Given the description of an element on the screen output the (x, y) to click on. 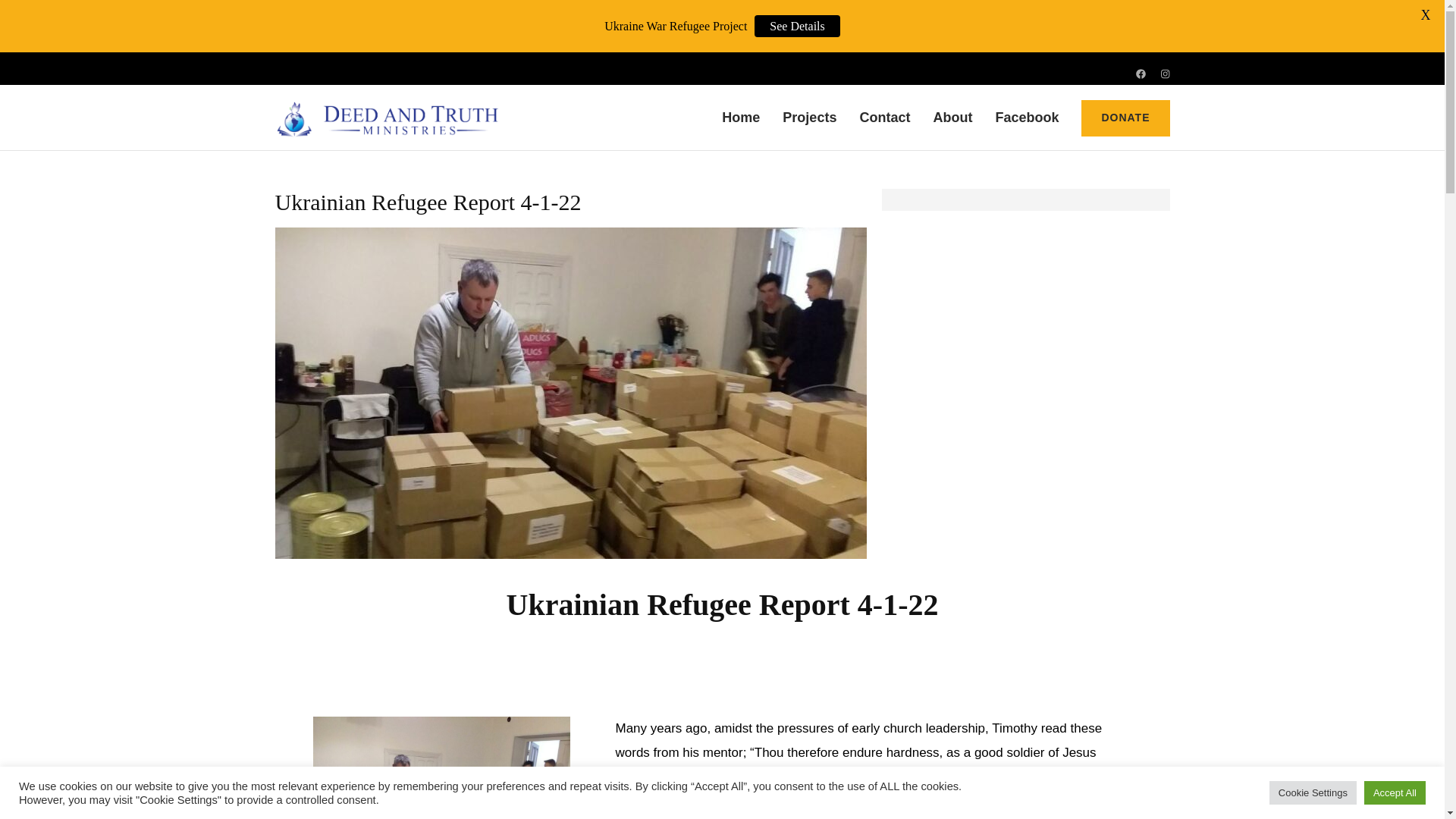
Contact (884, 123)
Projects (809, 123)
Home (741, 123)
Facebook (1026, 123)
Deed and Truth Ministries (680, 129)
About (952, 123)
